Given the description of an element on the screen output the (x, y) to click on. 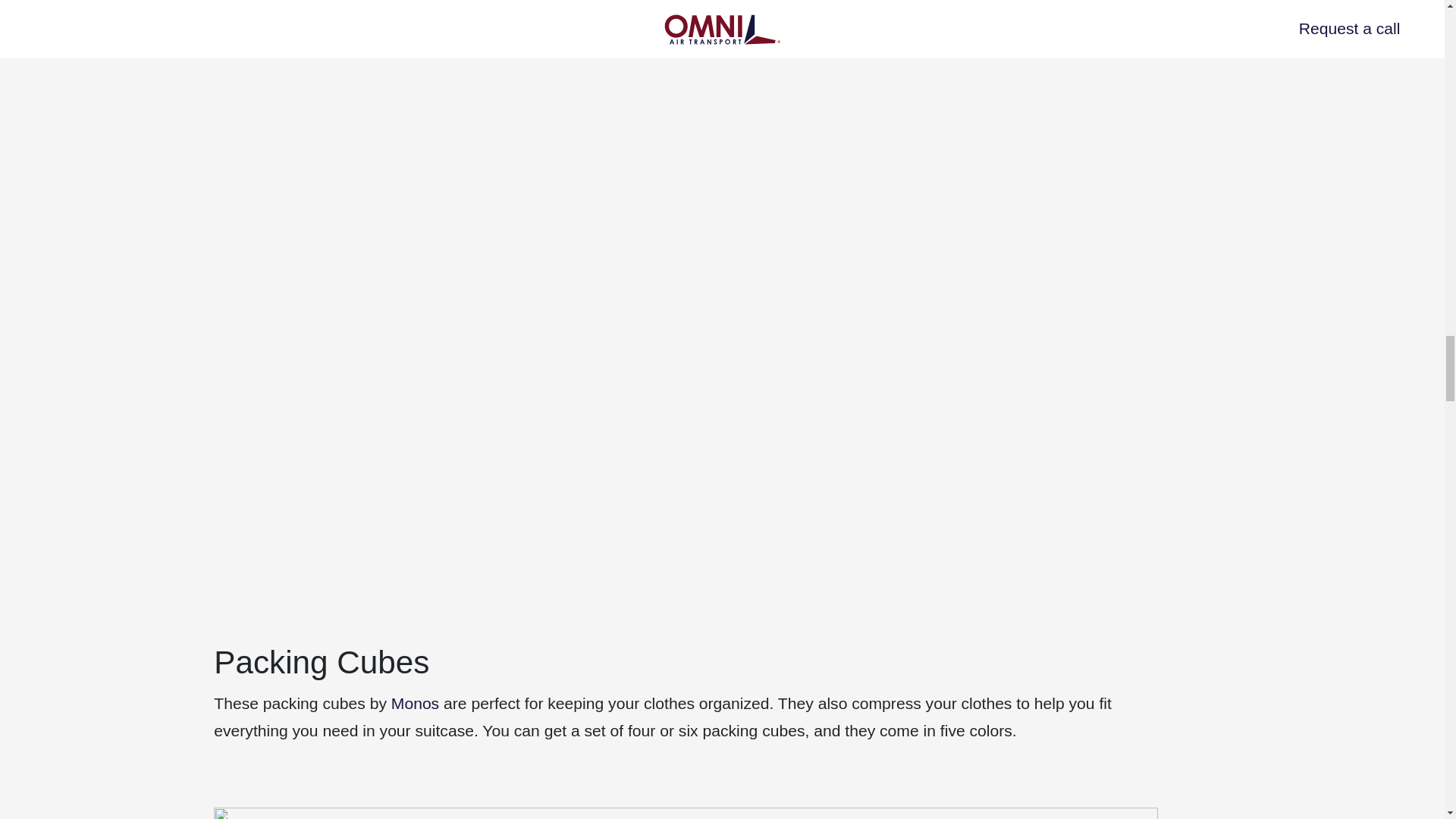
Monos (415, 702)
